Given the description of an element on the screen output the (x, y) to click on. 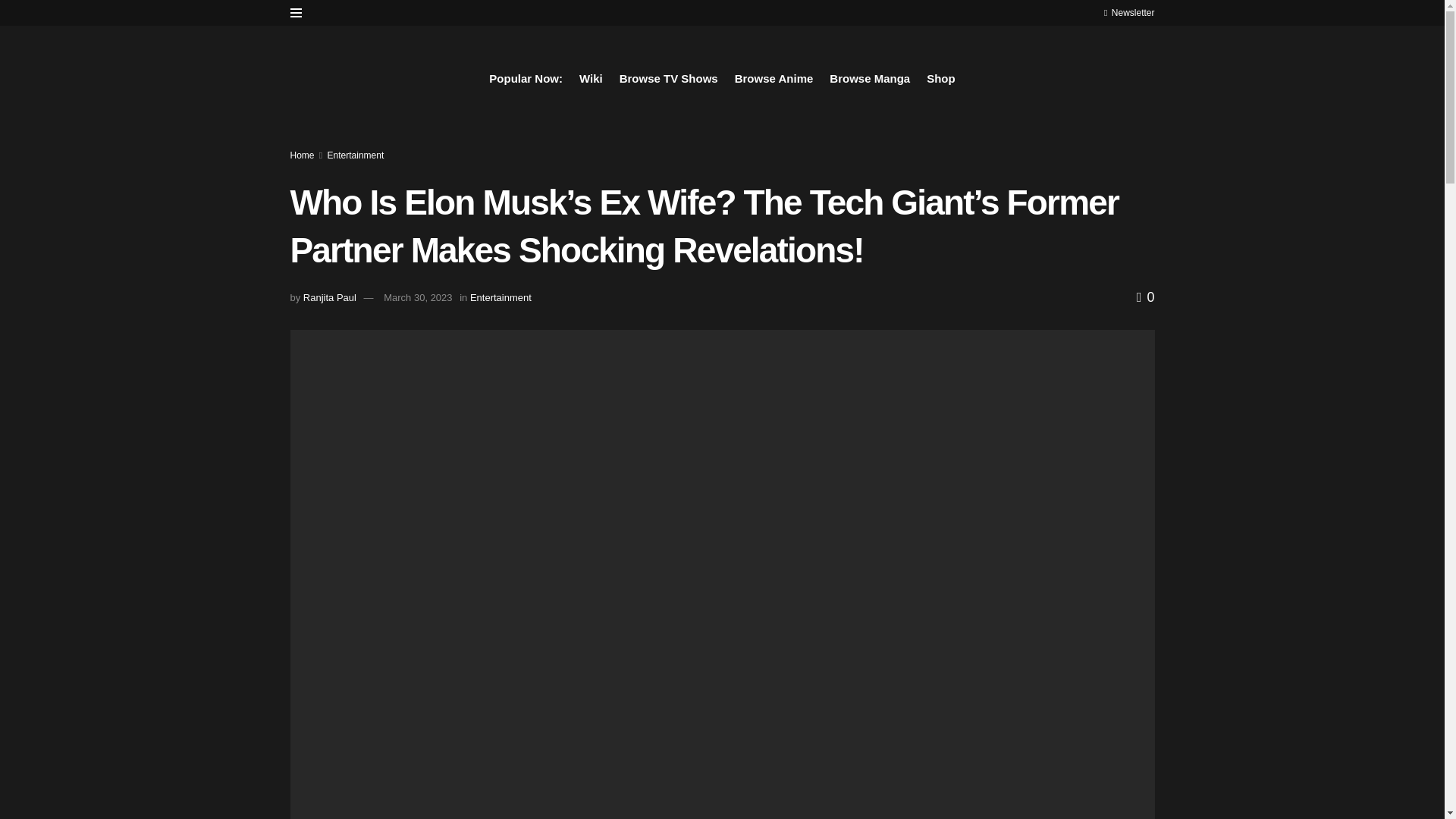
Home (301, 154)
Entertainment (500, 297)
Entertainment (355, 154)
Ranjita Paul (329, 297)
Browse TV Shows (668, 78)
Newsletter (1128, 12)
Popular Now: (525, 78)
Browse Anime (774, 78)
Browse Manga (869, 78)
